Given the description of an element on the screen output the (x, y) to click on. 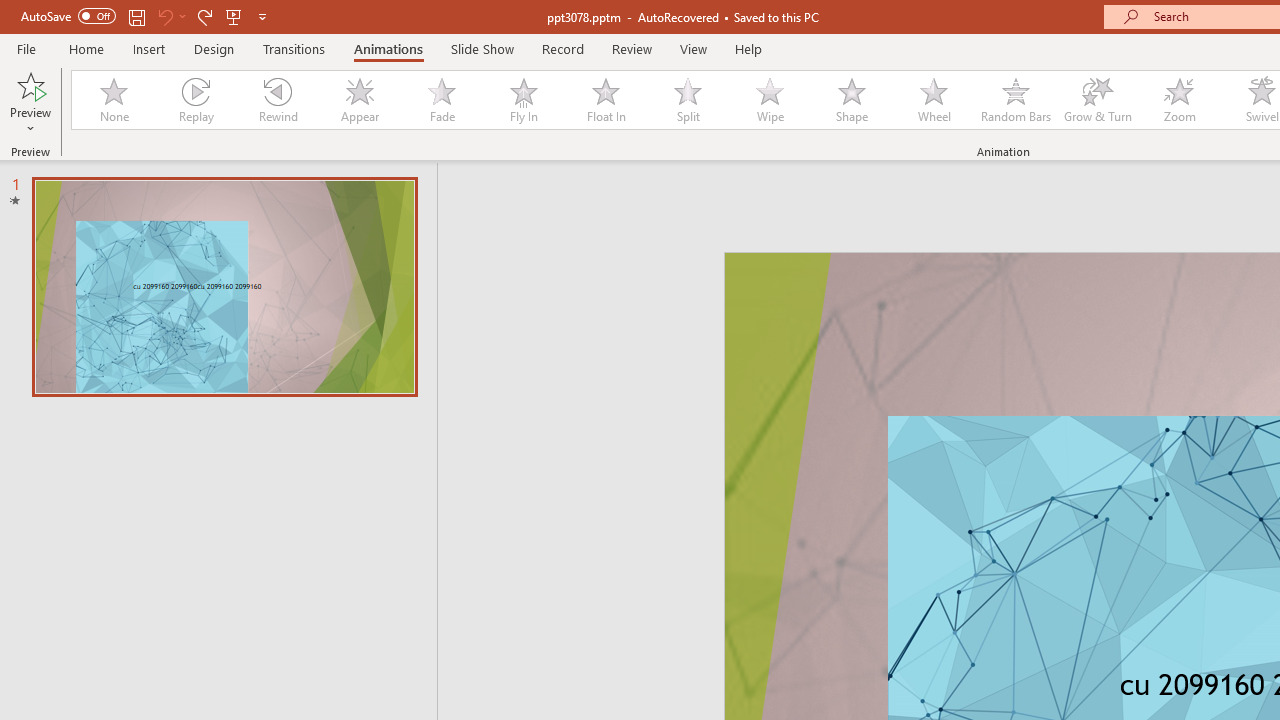
Wheel (934, 100)
Preview (30, 84)
Fly In (523, 100)
